Given the description of an element on the screen output the (x, y) to click on. 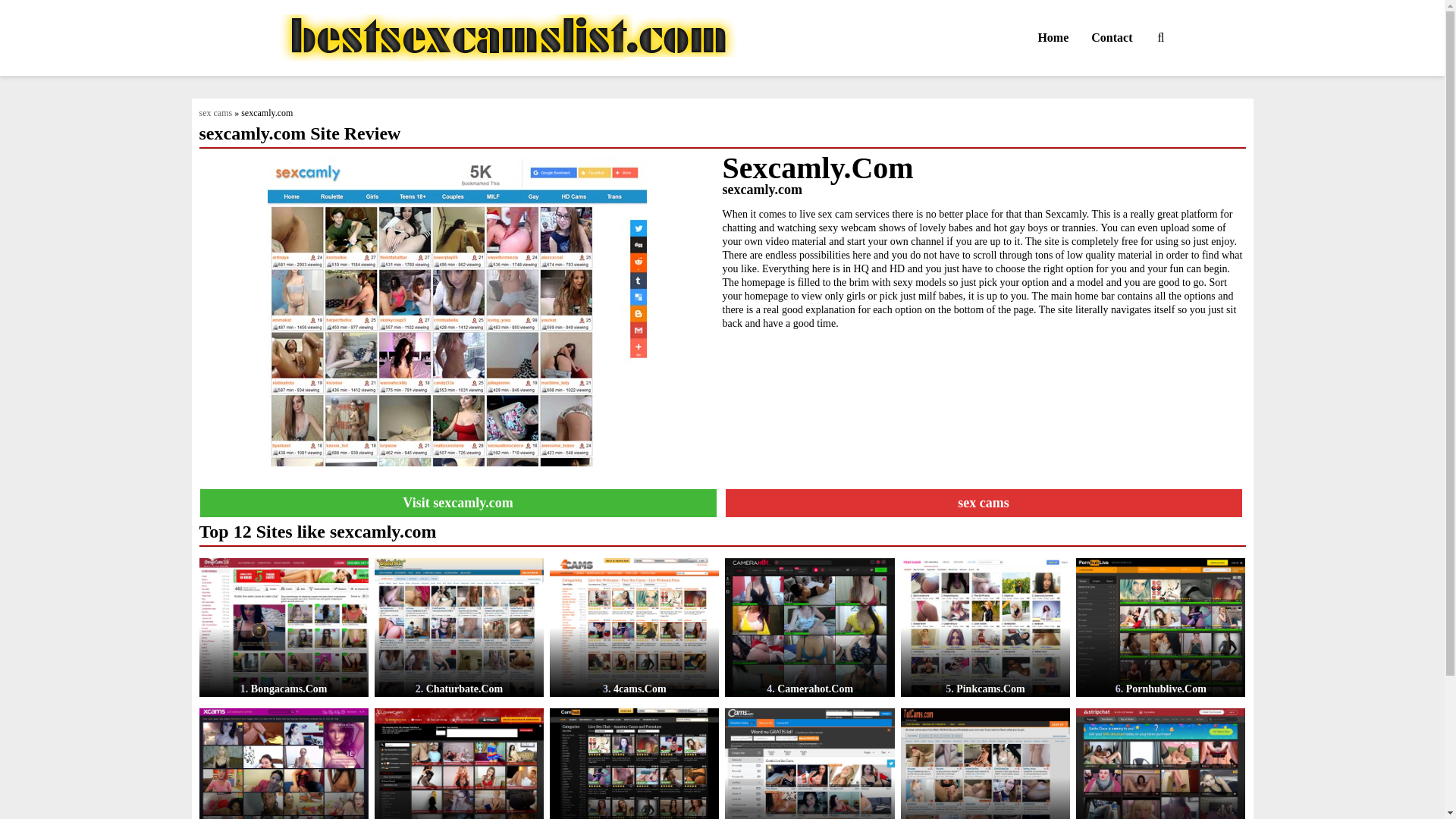
sex cams (984, 502)
Xcams.Com (283, 763)
4cams.Com (634, 626)
sexcamly (457, 502)
Chaturbate.Com (458, 626)
Pinkcams.Com (985, 626)
Contact (1111, 37)
sex cams (214, 112)
Xlovecam.Com (458, 763)
sexcamly (456, 309)
